Given the description of an element on the screen output the (x, y) to click on. 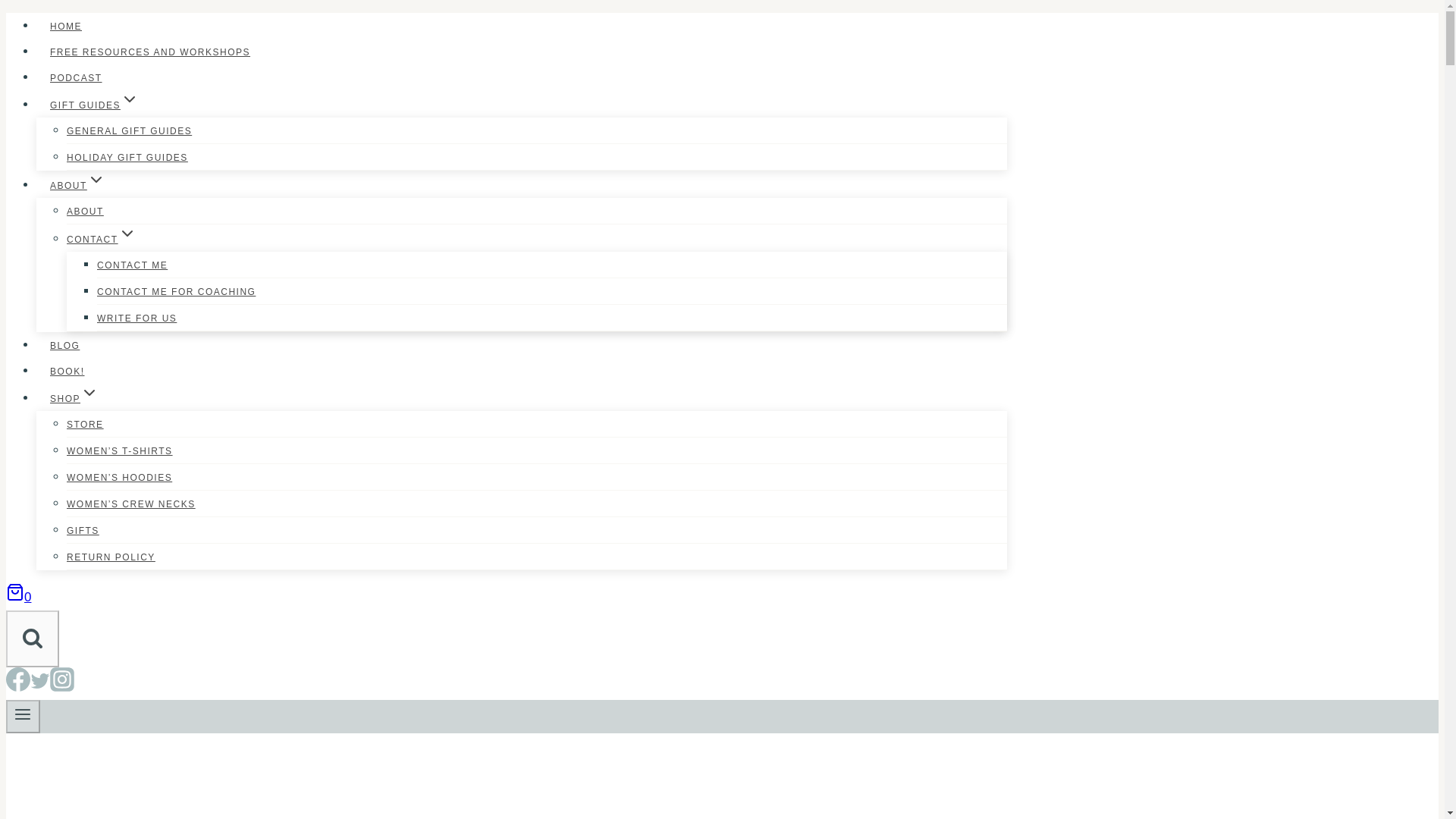
EXPAND (95, 179)
EXPAND (129, 99)
EXPAND (126, 233)
HOME (66, 26)
Instagram (61, 686)
ABOUT (84, 211)
Shopping Cart (14, 592)
CONTACT ME FOR COACHING (176, 291)
Twitter (39, 680)
ABOUTEXPAND (77, 185)
SHOPEXPAND (74, 398)
TOGGLE MENU (22, 716)
STORE (84, 424)
WRITE FOR US (136, 317)
Facebook (17, 686)
